Given the description of an element on the screen output the (x, y) to click on. 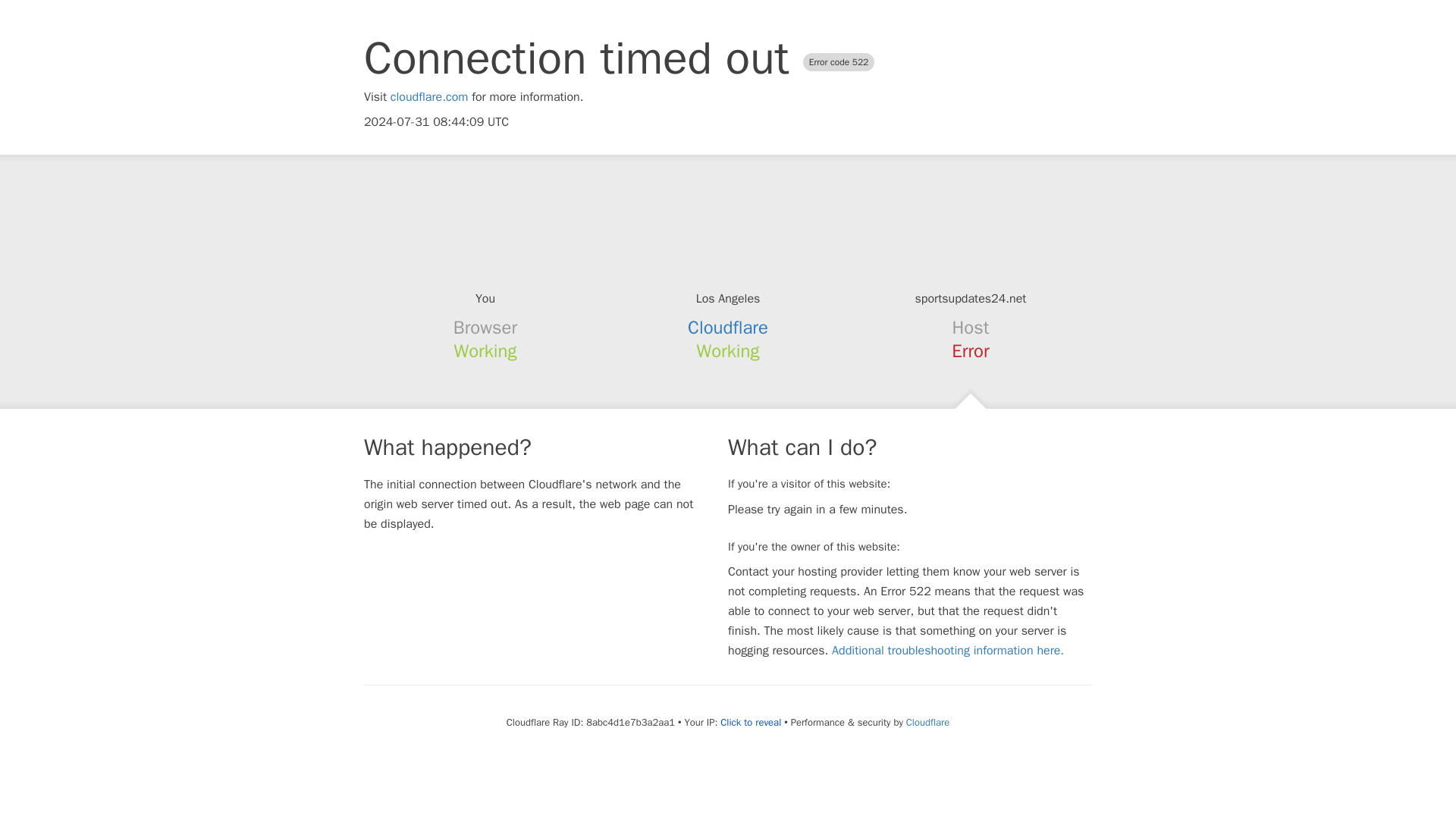
Additional troubleshooting information here. (947, 650)
Cloudflare (727, 327)
Click to reveal (750, 722)
Cloudflare (927, 721)
cloudflare.com (429, 96)
